Given the description of an element on the screen output the (x, y) to click on. 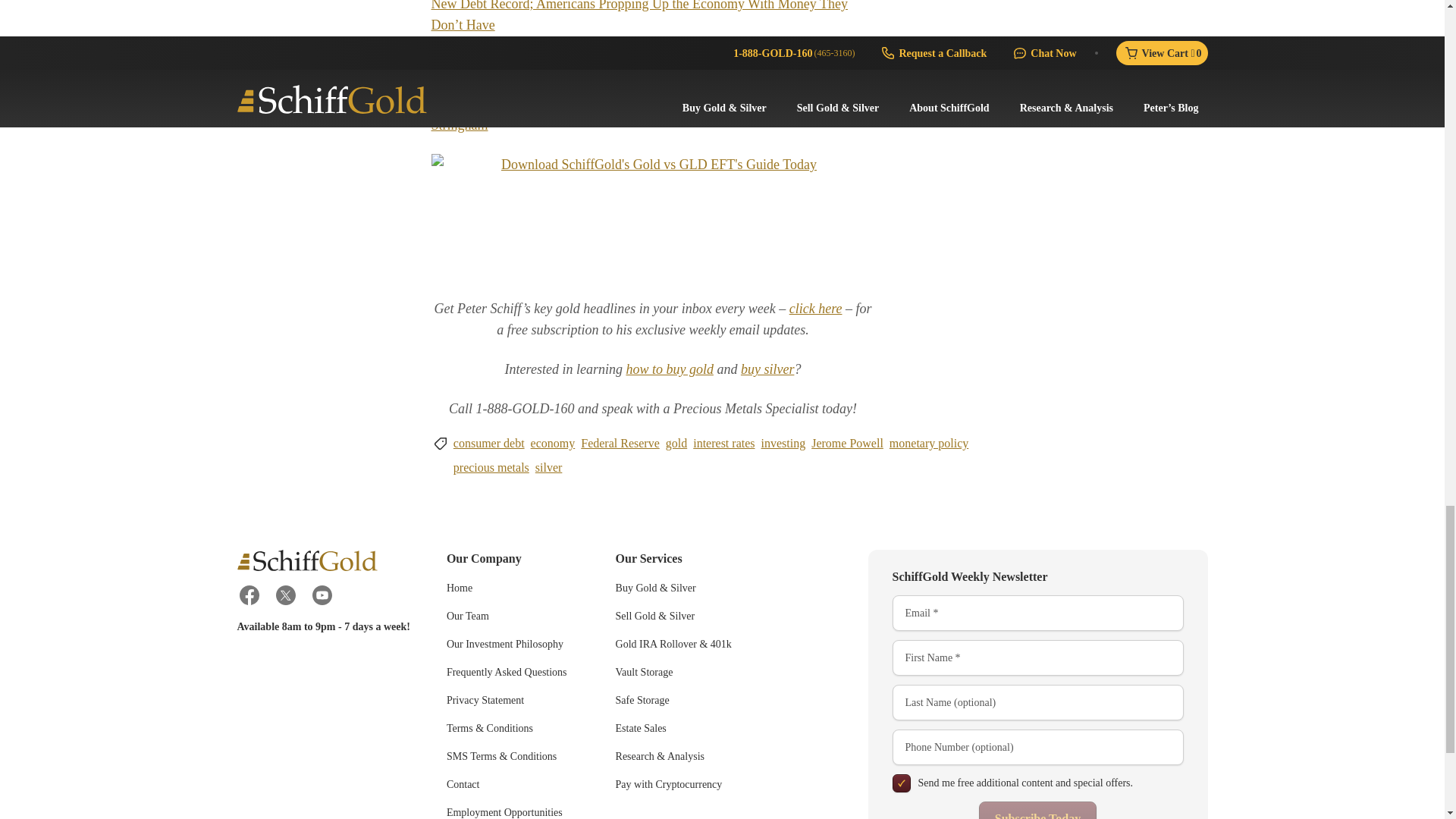
Peter Schiff: Powell Said A Lot of Foolish Things Today (584, 64)
click here (816, 308)
how to buy gold (669, 368)
buy silver (767, 368)
